Given the description of an element on the screen output the (x, y) to click on. 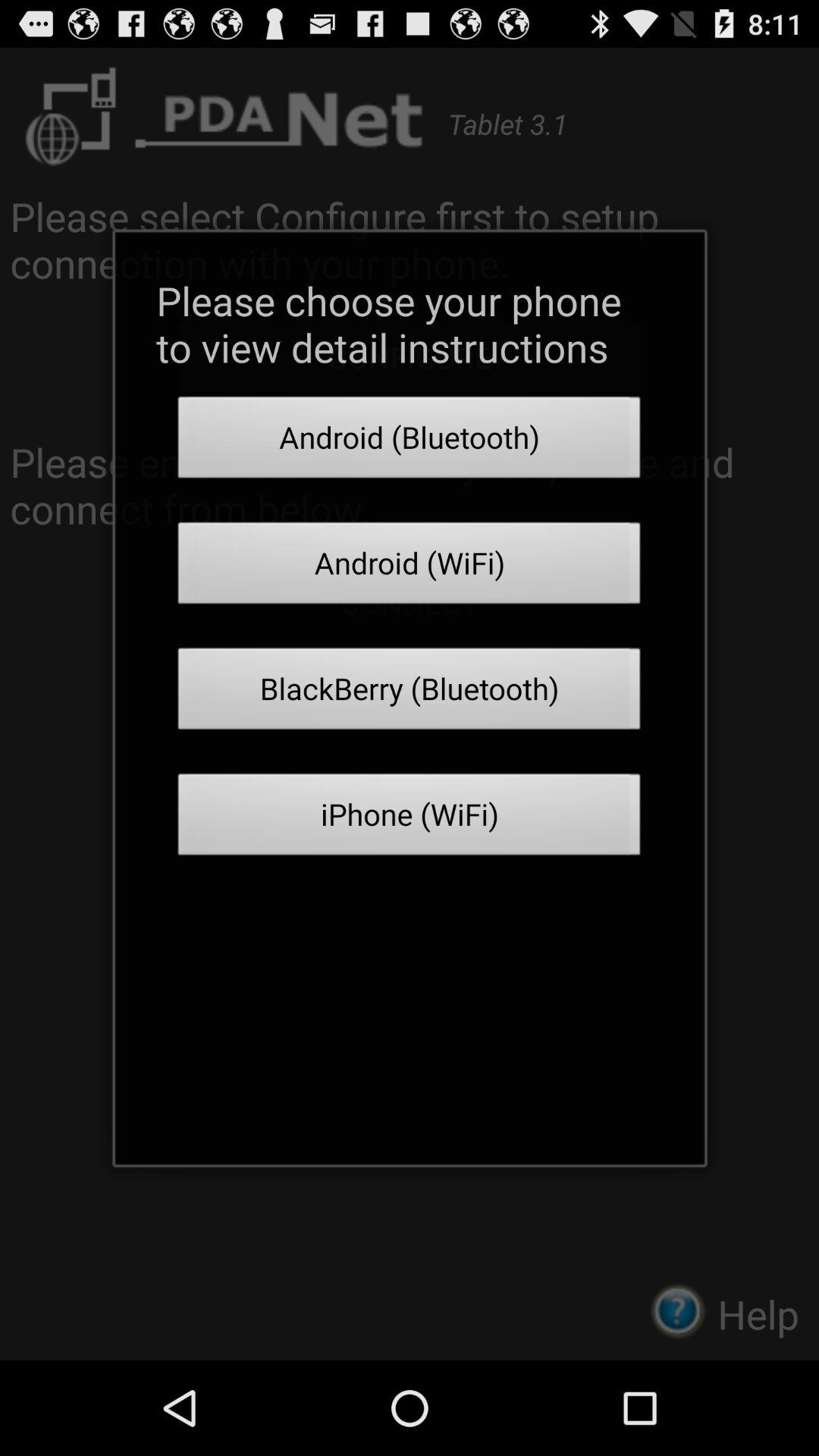
turn on the android (bluetooth) (409, 441)
